Given the description of an element on the screen output the (x, y) to click on. 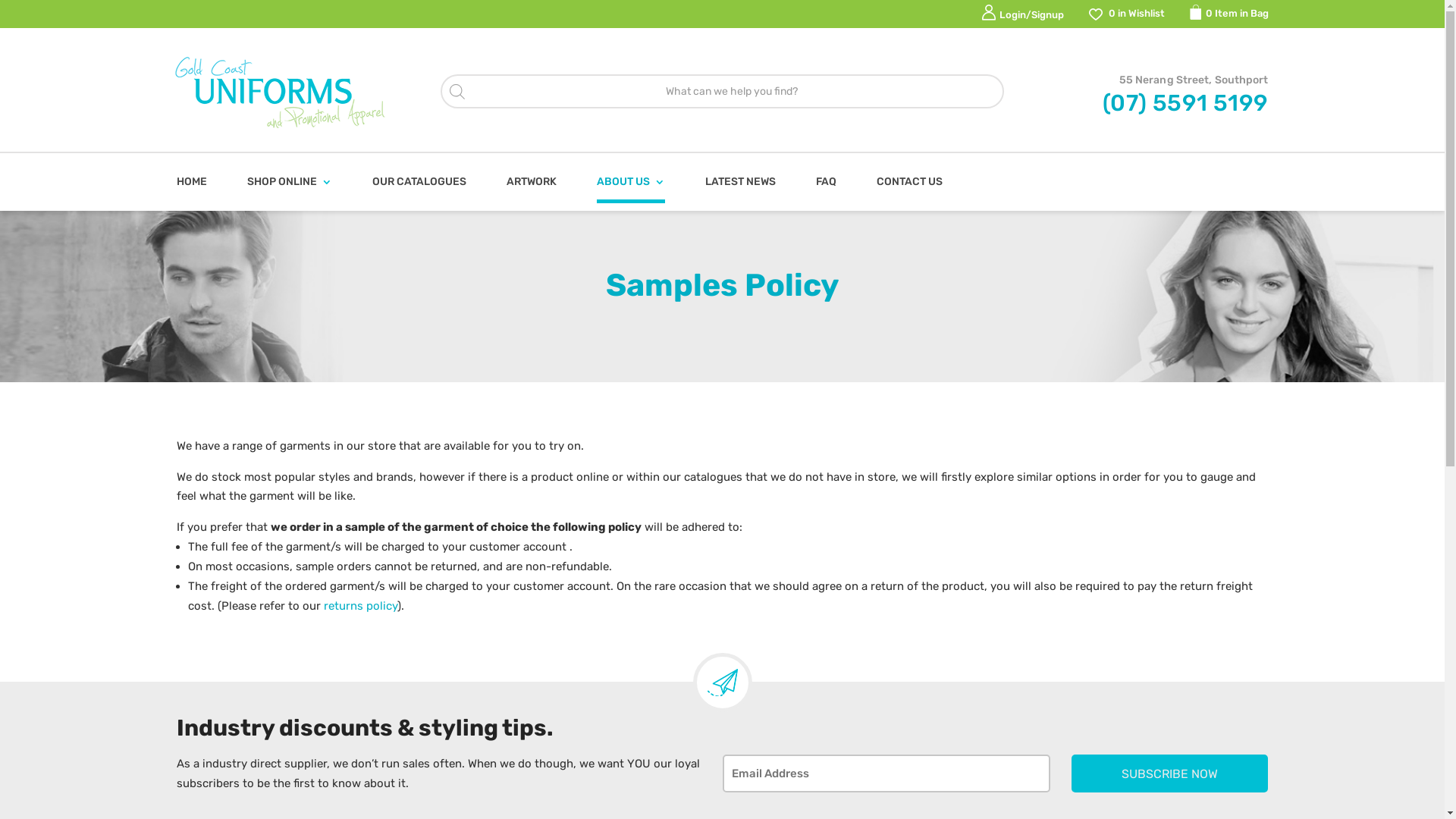
HOME Element type: text (190, 181)
OUR CATALOGUES Element type: text (418, 181)
(07) 5591 5199 Element type: text (1185, 103)
returns policy Element type: text (359, 605)
0 Item in Bag Element type: text (1228, 12)
LATEST NEWS Element type: text (740, 181)
Login/Signup Element type: text (1022, 14)
ARTWORK Element type: text (531, 181)
FAQ Element type: text (825, 181)
CONTACT US Element type: text (909, 181)
0 in Wishlist Element type: text (1127, 12)
Subscribe Now Element type: text (1169, 773)
SHOP ONLINE Element type: text (289, 181)
ABOUT US Element type: text (630, 181)
